Given the description of an element on the screen output the (x, y) to click on. 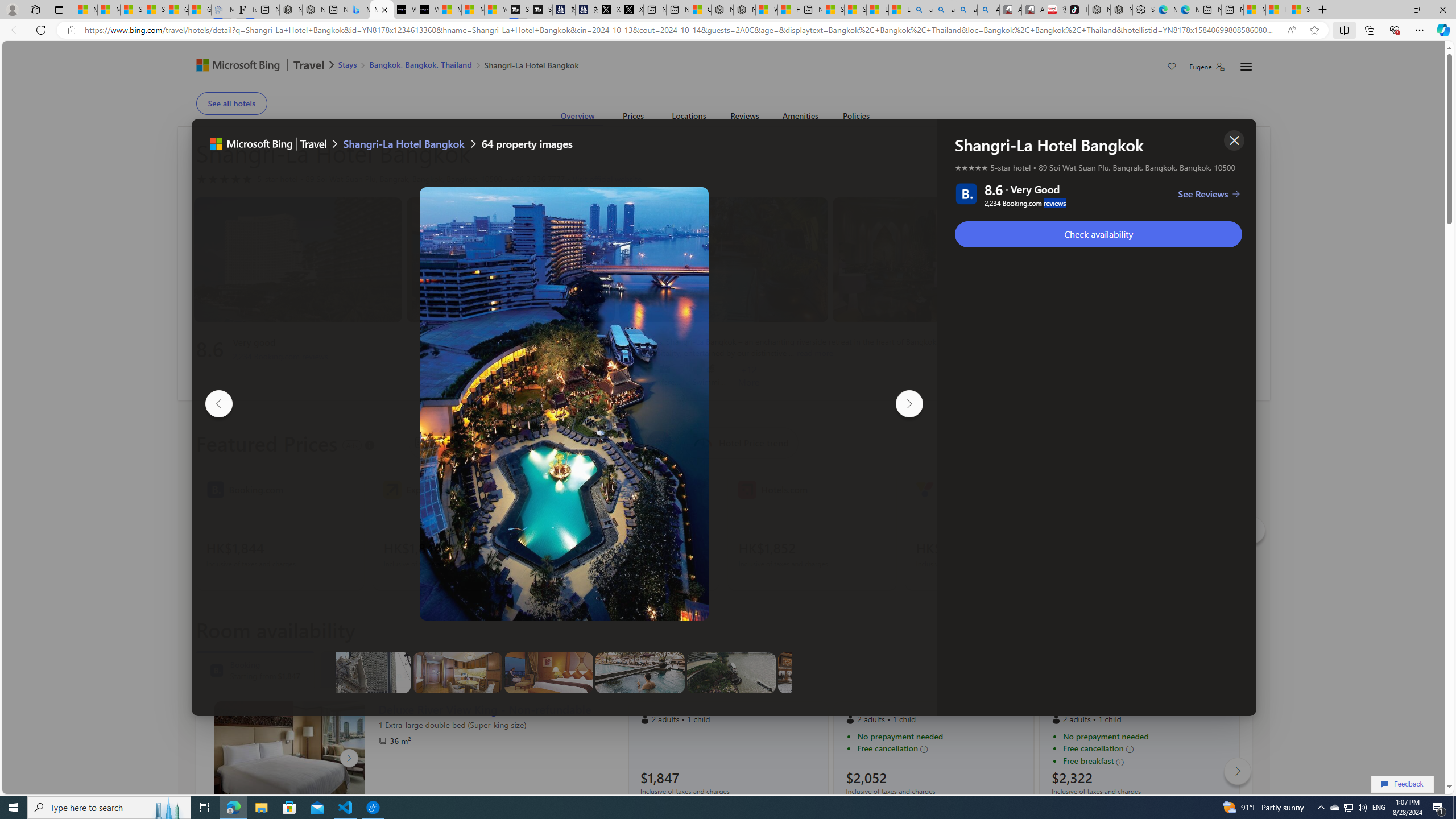
Microsoft Bing Travel - Stays in Bangkok, Bangkok, Thailand (359, 9)
Huge shark washes ashore at New York City beach | Watch (789, 9)
All Cubot phones (1032, 9)
I Gained 20 Pounds of Muscle in 30 Days! | Watch (1276, 9)
TikTok (1077, 9)
Settings (1143, 9)
